Given the description of an element on the screen output the (x, y) to click on. 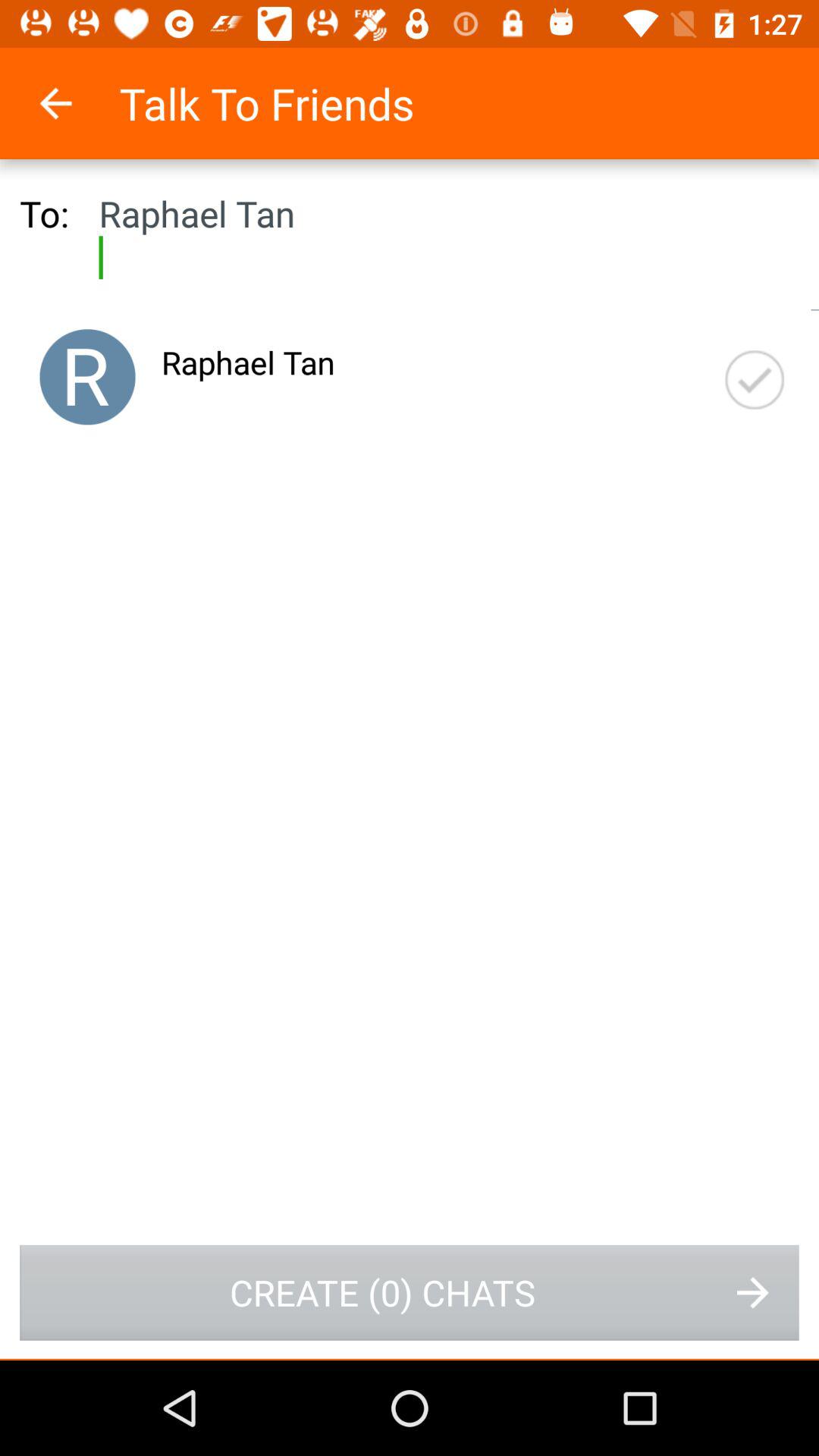
press item at the top right corner (754, 380)
